Given the description of an element on the screen output the (x, y) to click on. 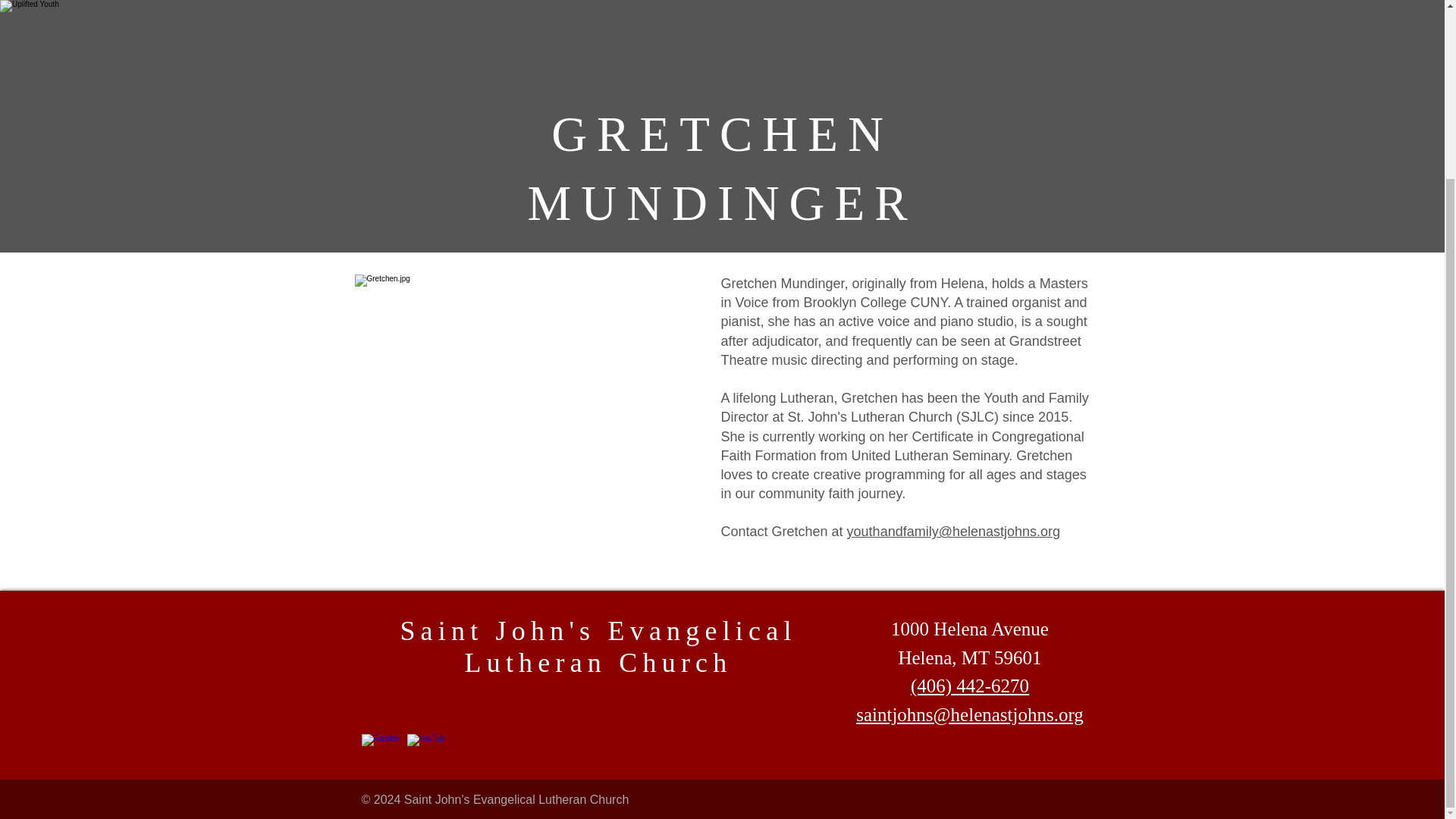
Saint John's Evangelical Lutheran Church (597, 646)
